Given the description of an element on the screen output the (x, y) to click on. 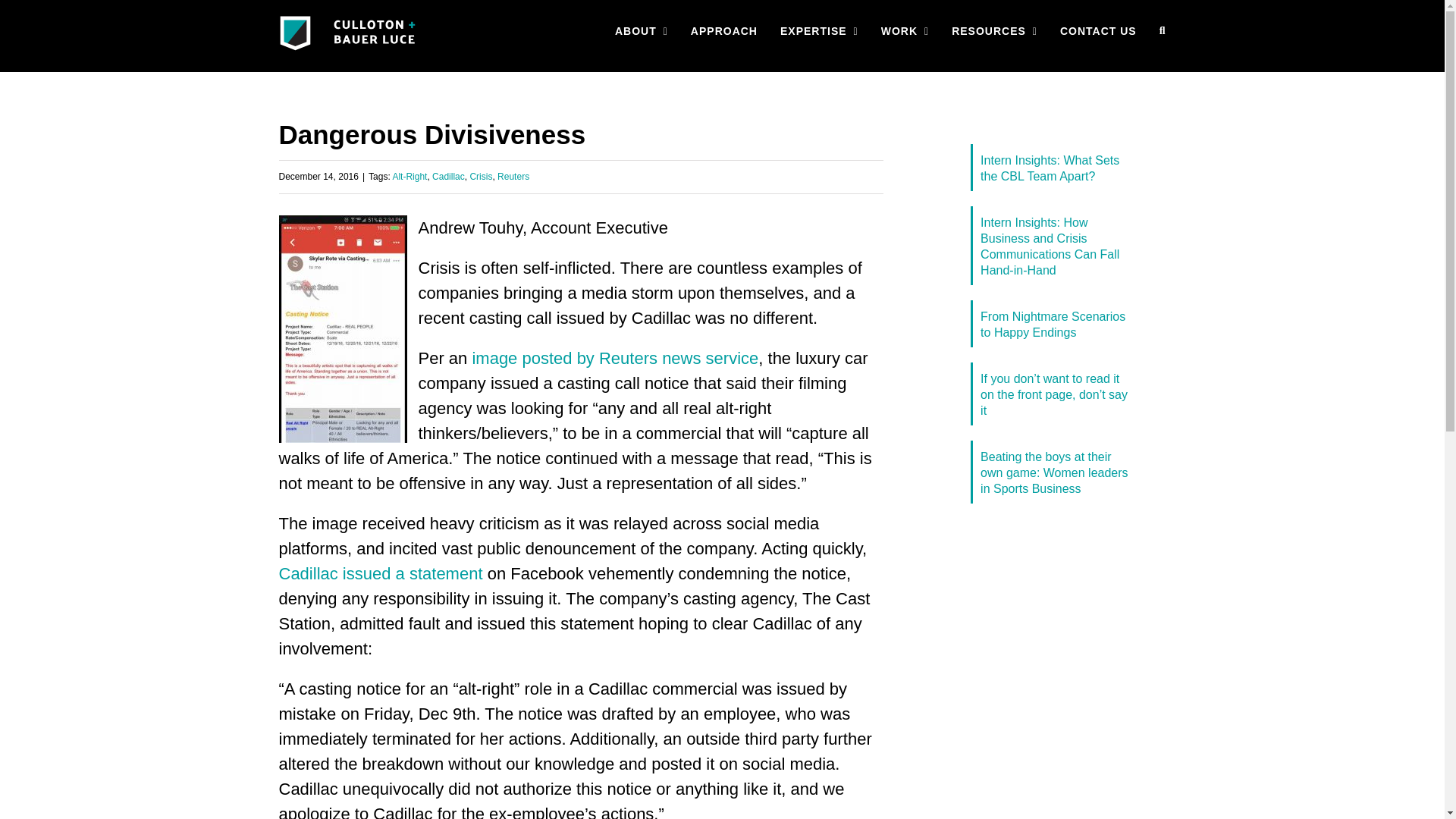
CONTACT US (1098, 30)
APPROACH (723, 30)
EXPERTISE (819, 30)
RESOURCES (994, 30)
